Given the description of an element on the screen output the (x, y) to click on. 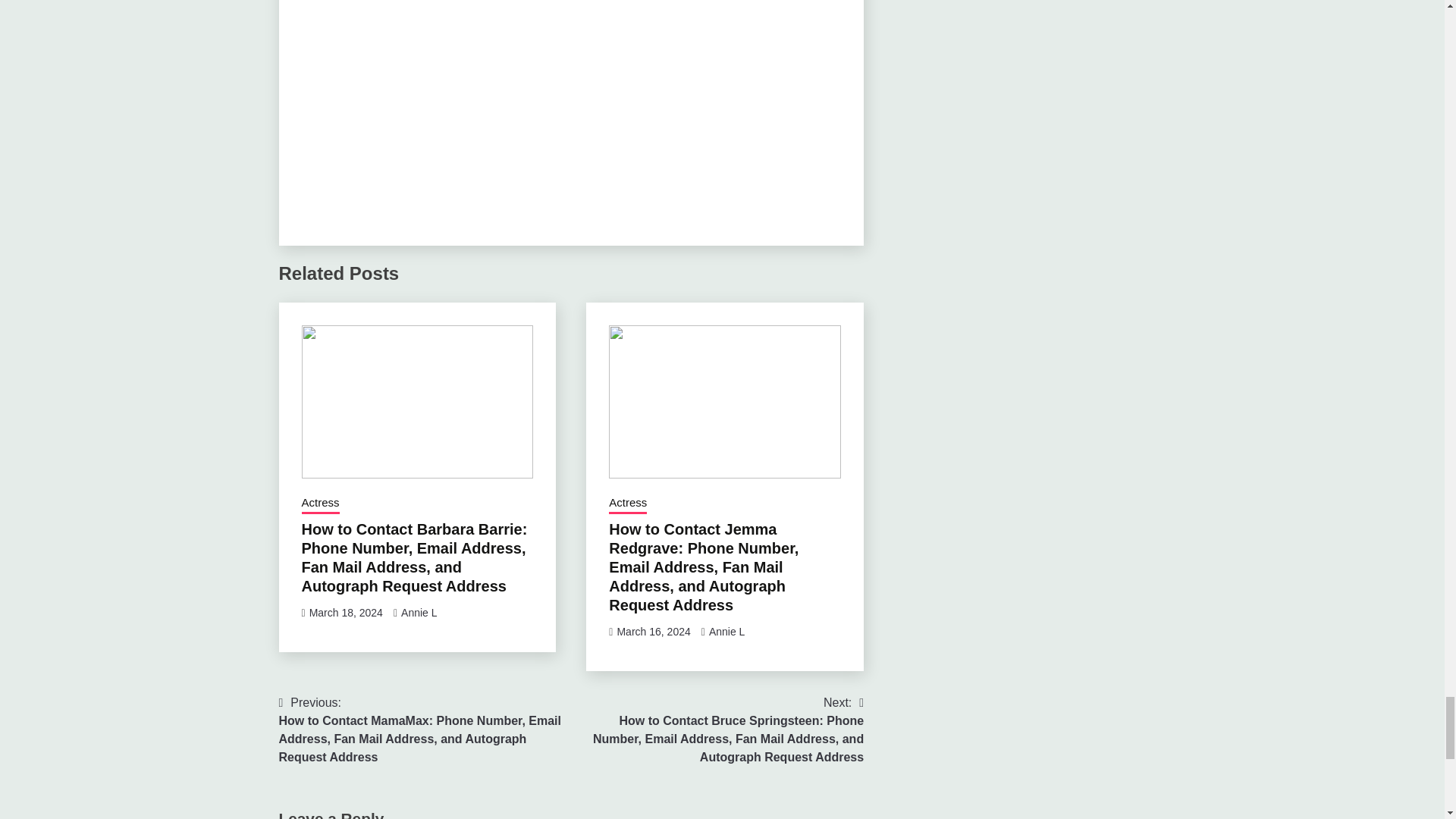
March 18, 2024 (345, 612)
YouTube video player (570, 108)
Annie L (418, 612)
March 16, 2024 (652, 631)
Actress (627, 504)
Actress (320, 504)
Annie L (726, 631)
